Given the description of an element on the screen output the (x, y) to click on. 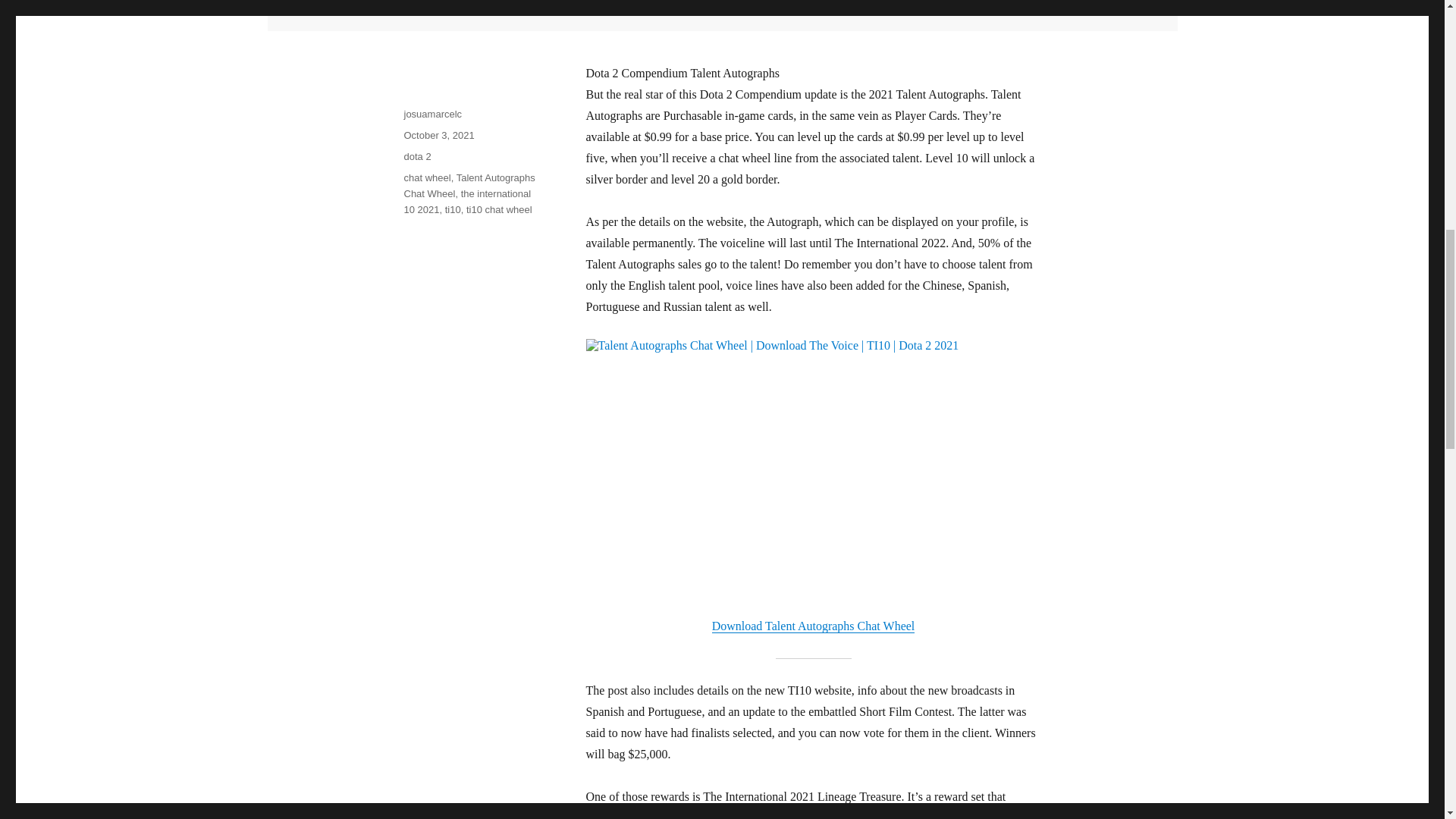
chat wheel (426, 177)
the international 10 2021 (467, 201)
ti10 chat wheel (498, 209)
ti10 (453, 209)
dota 2 (416, 156)
October 3, 2021 (438, 134)
Talent Autographs Chat Wheel (468, 185)
josuamarcelc (432, 113)
Download Talent Autographs Chat Wheel (813, 625)
